Given the description of an element on the screen output the (x, y) to click on. 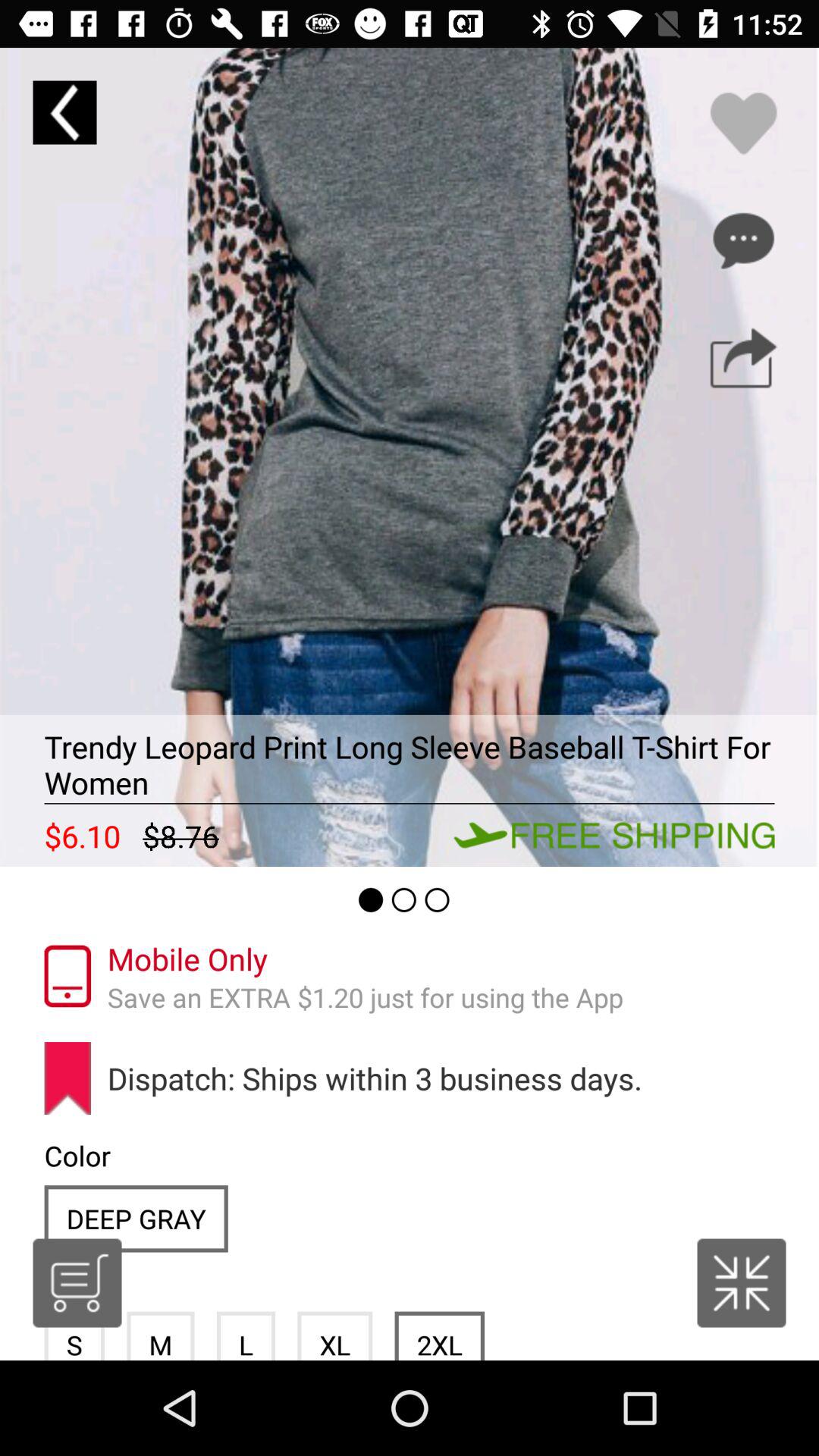
scroll until deep gray item (136, 1218)
